Given the description of an element on the screen output the (x, y) to click on. 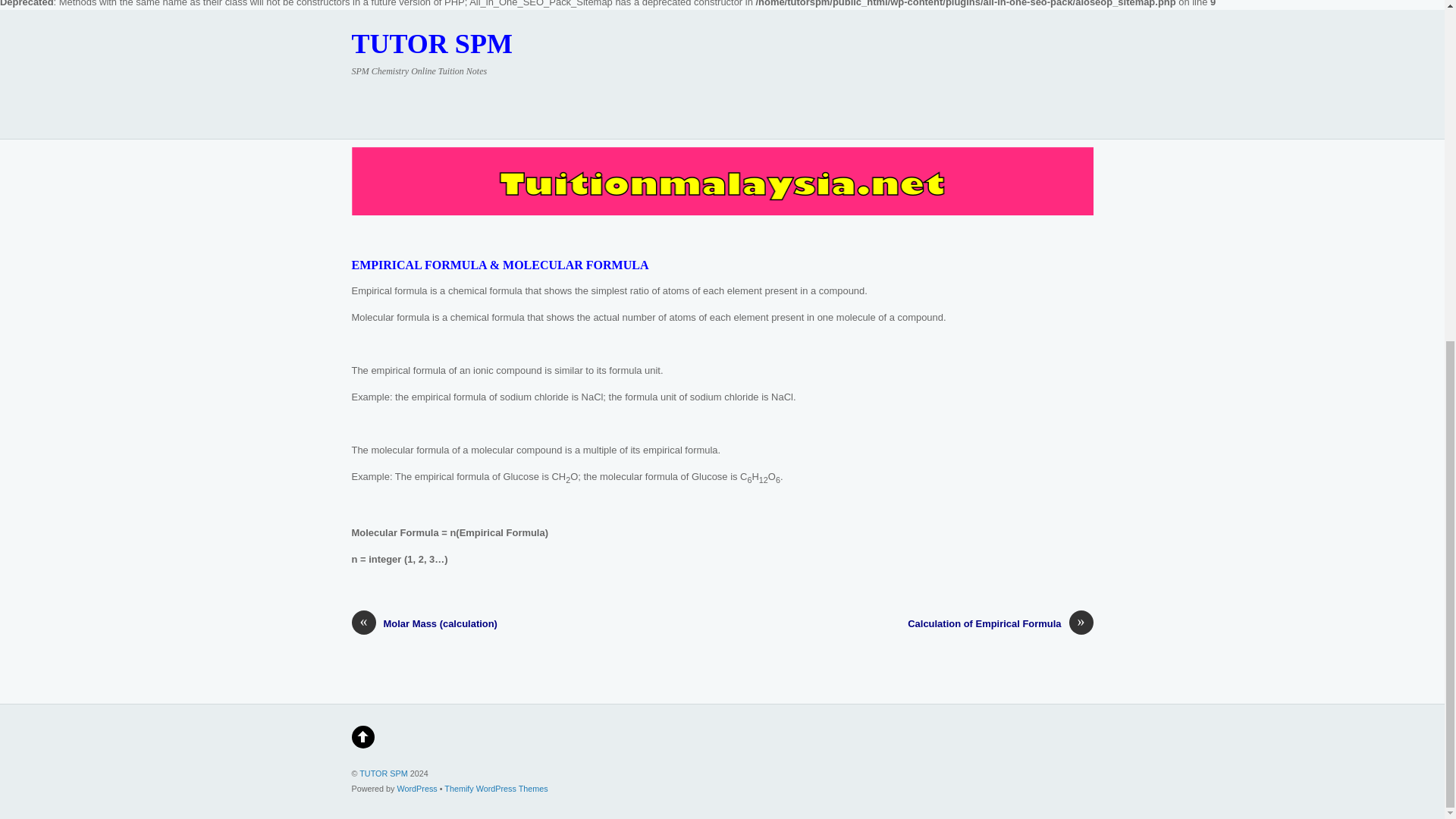
Themify WordPress Themes (495, 788)
TUTOR SPM (383, 773)
TUTOR SPM (432, 42)
WordPress (417, 788)
TUTOR SPM (432, 42)
